Given the description of an element on the screen output the (x, y) to click on. 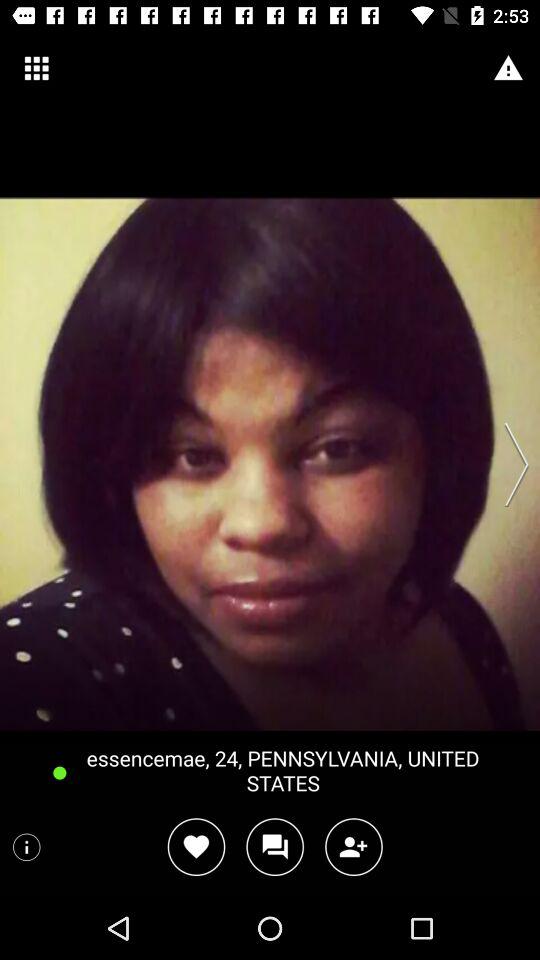
add another person (353, 846)
